Given the description of an element on the screen output the (x, y) to click on. 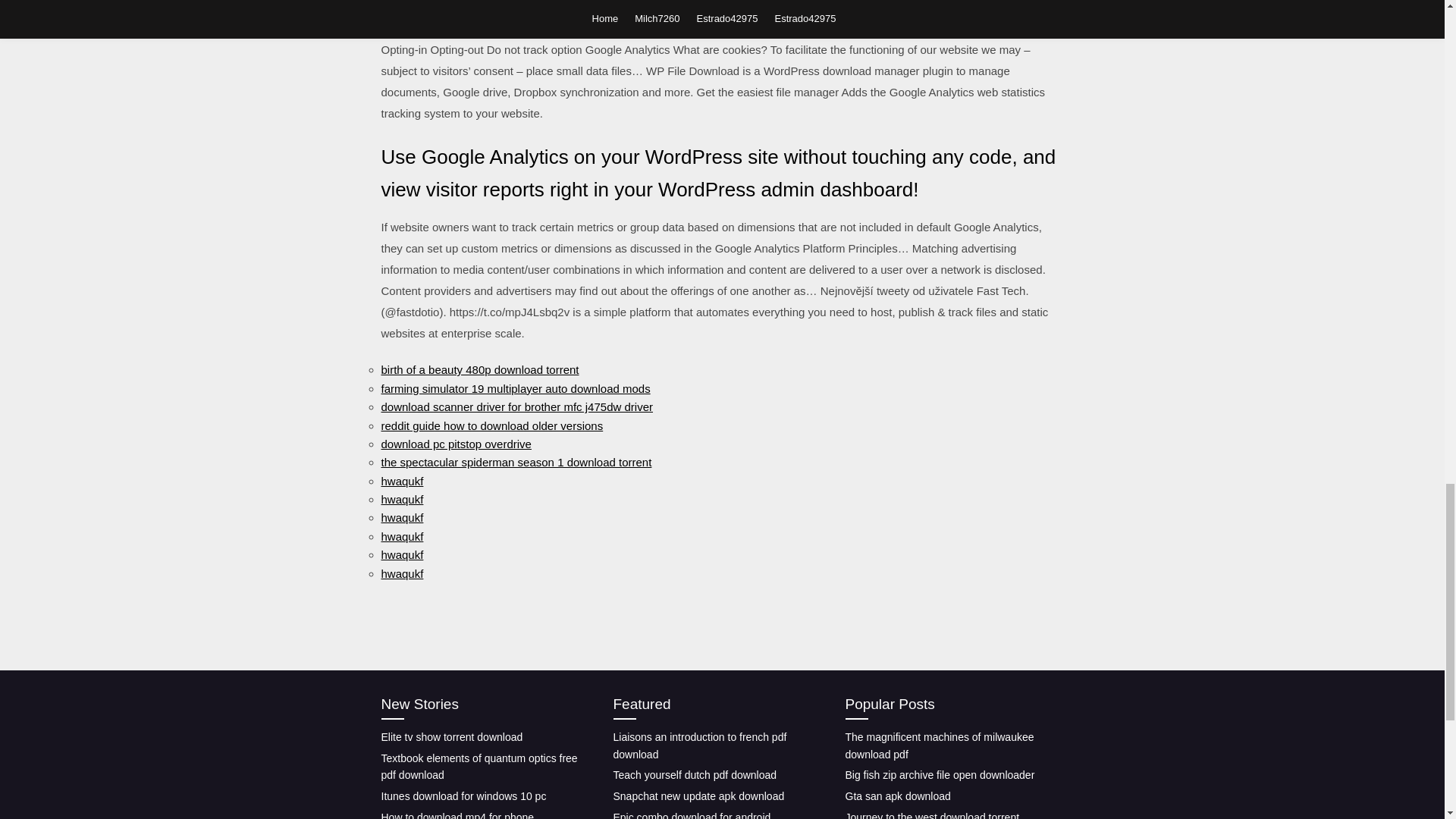
Big fish zip archive file open downloader (938, 775)
download pc pitstop overdrive (455, 443)
Liaisons an introduction to french pdf download (699, 745)
birth of a beauty 480p download torrent (479, 369)
hwaqukf (401, 573)
download scanner driver for brother mfc j475dw driver (516, 406)
reddit guide how to download older versions (491, 424)
Snapchat new update apk download (698, 796)
Gta san apk download (897, 796)
farming simulator 19 multiplayer auto download mods (514, 388)
